Given the description of an element on the screen output the (x, y) to click on. 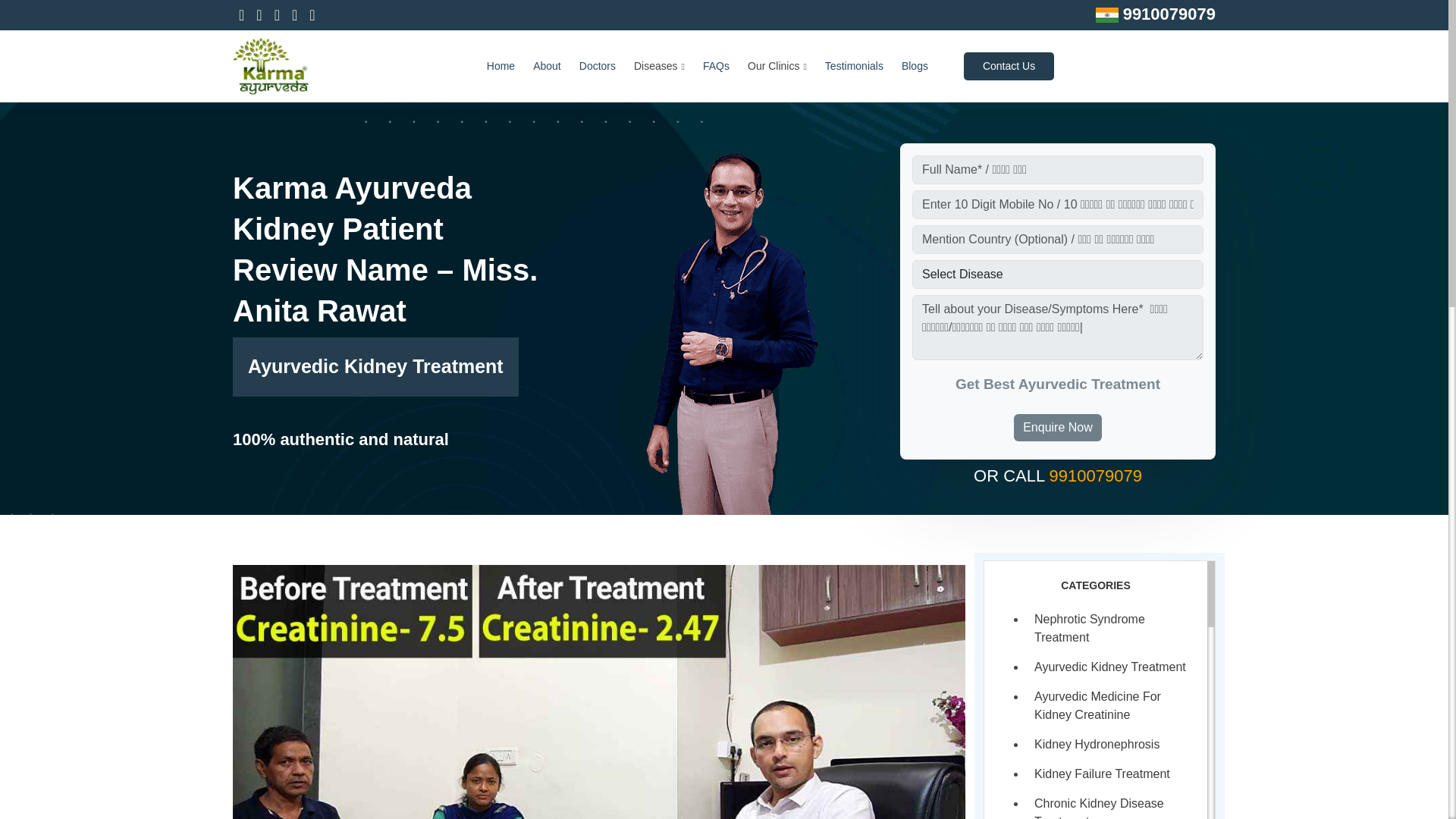
FAQs (715, 65)
Diseases (658, 65)
About (546, 65)
Doctors (597, 65)
Home (500, 65)
Enquire Now (1057, 427)
Our Clinics (776, 65)
 9910079079 (1166, 13)
